Given the description of an element on the screen output the (x, y) to click on. 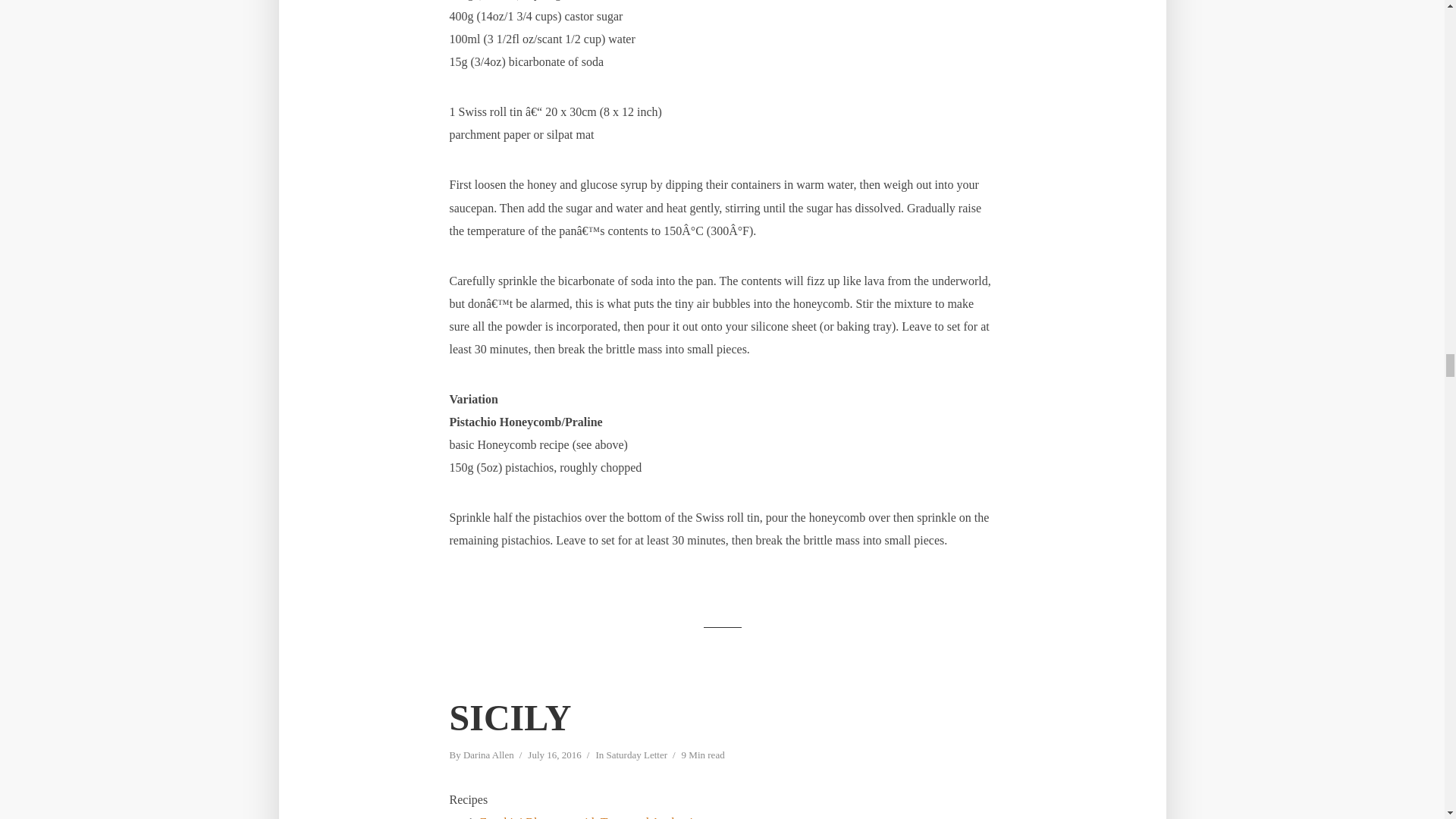
SICILY (509, 717)
Zucchini Blossoms with Tuma and Anchovies (591, 817)
Saturday Letter (635, 756)
Darina Allen (488, 756)
